Given the description of an element on the screen output the (x, y) to click on. 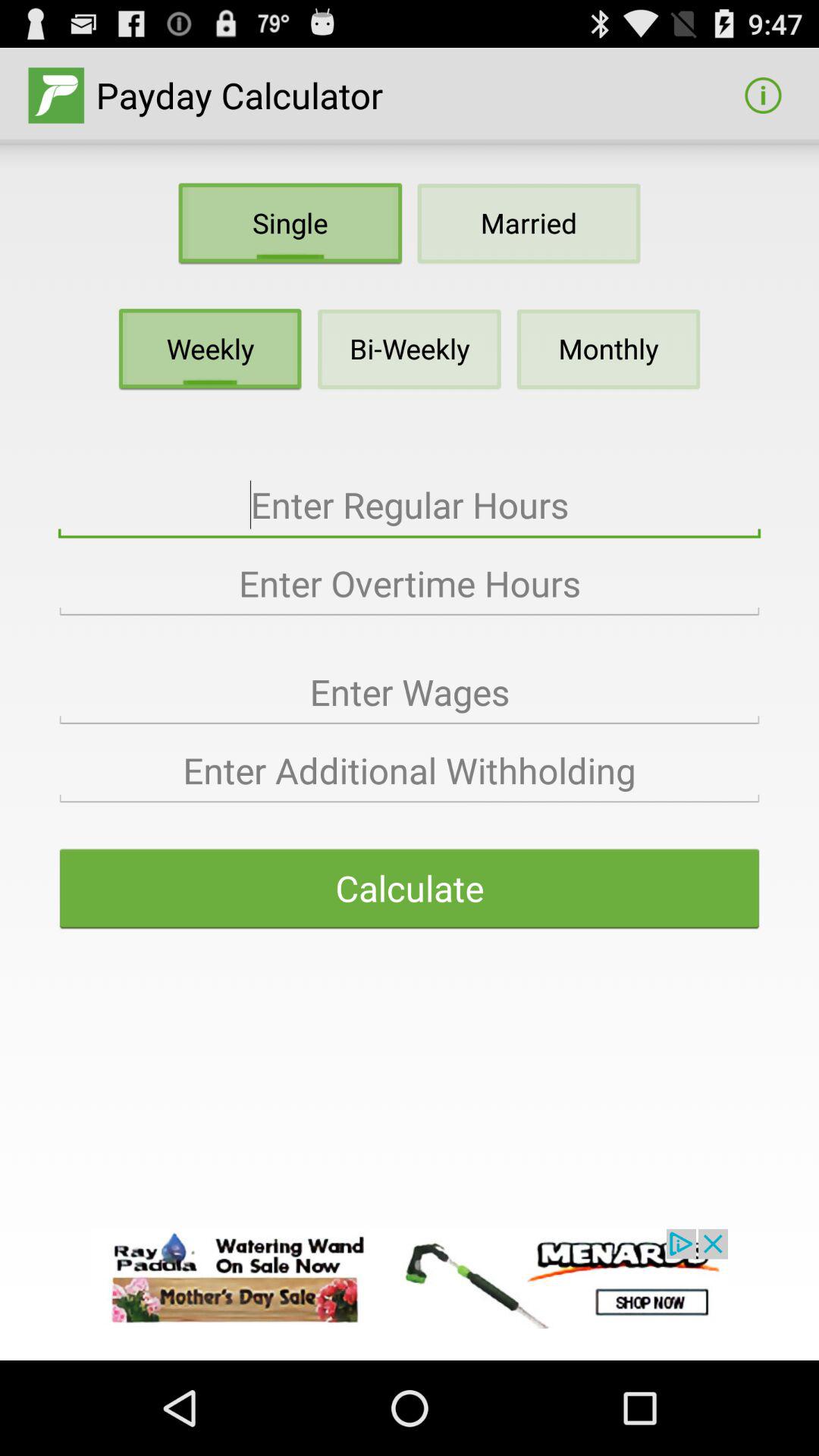
click on enter overtime hours (409, 583)
click on monthly below married (608, 348)
click on the icon left next to payday calculator (55, 95)
click on the enter wages below enter overtime hours (409, 692)
go to the field above enter overtime hours (409, 504)
click on the info button which is at top right corner of the page (763, 95)
